Given the description of an element on the screen output the (x, y) to click on. 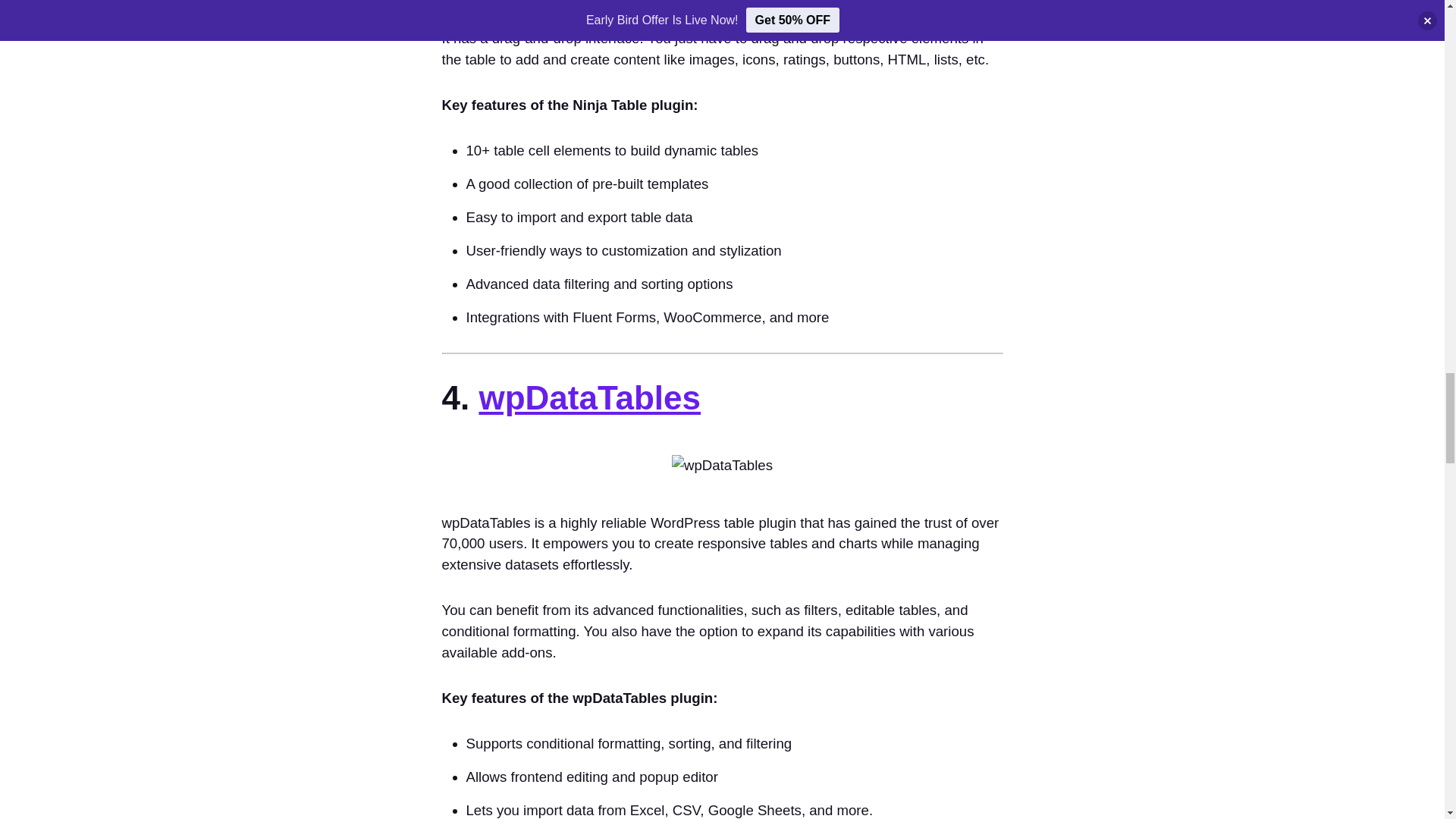
wpDataTables (589, 397)
